Given the description of an element on the screen output the (x, y) to click on. 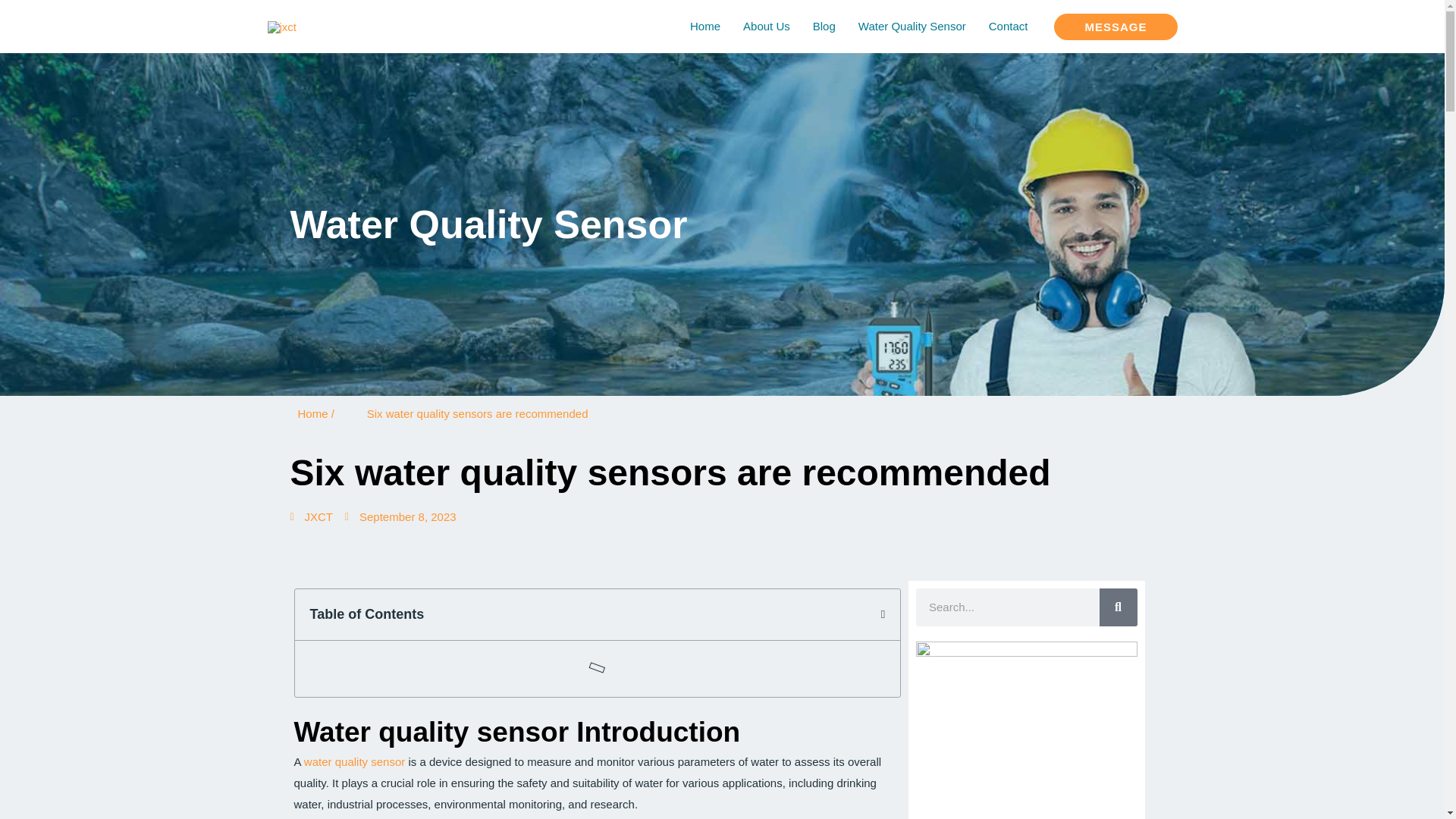
Contact (1007, 26)
MESSAGE (1115, 26)
About Us (767, 26)
water quality sensor  (356, 761)
September 8, 2023 (401, 516)
JXCT (311, 516)
Home (705, 26)
Water Quality Sensor (911, 26)
